Given the description of an element on the screen output the (x, y) to click on. 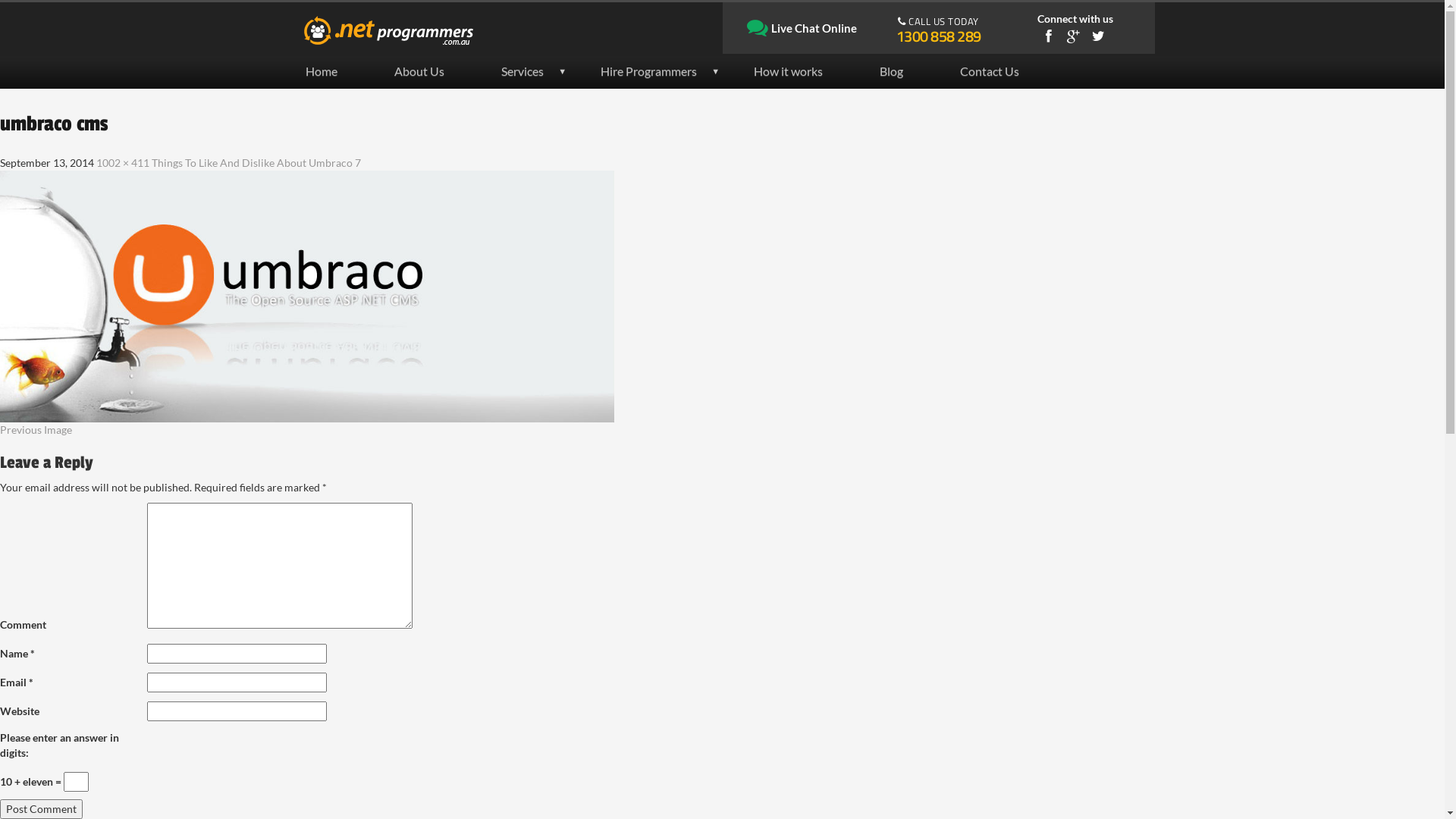
Blog Element type: text (904, 70)
Services Element type: text (534, 70)
Contact Us Element type: text (1002, 70)
Home Element type: text (333, 70)
Live Chat Online Element type: text (801, 28)
Hire Programmers Element type: text (661, 70)
1300 858 289 Element type: text (938, 35)
Previous Image Element type: text (722, 429)
Things To Like And Dislike About Umbraco 7 Element type: text (255, 162)
About Us Element type: text (432, 70)
How it works Element type: text (801, 70)
